Given the description of an element on the screen output the (x, y) to click on. 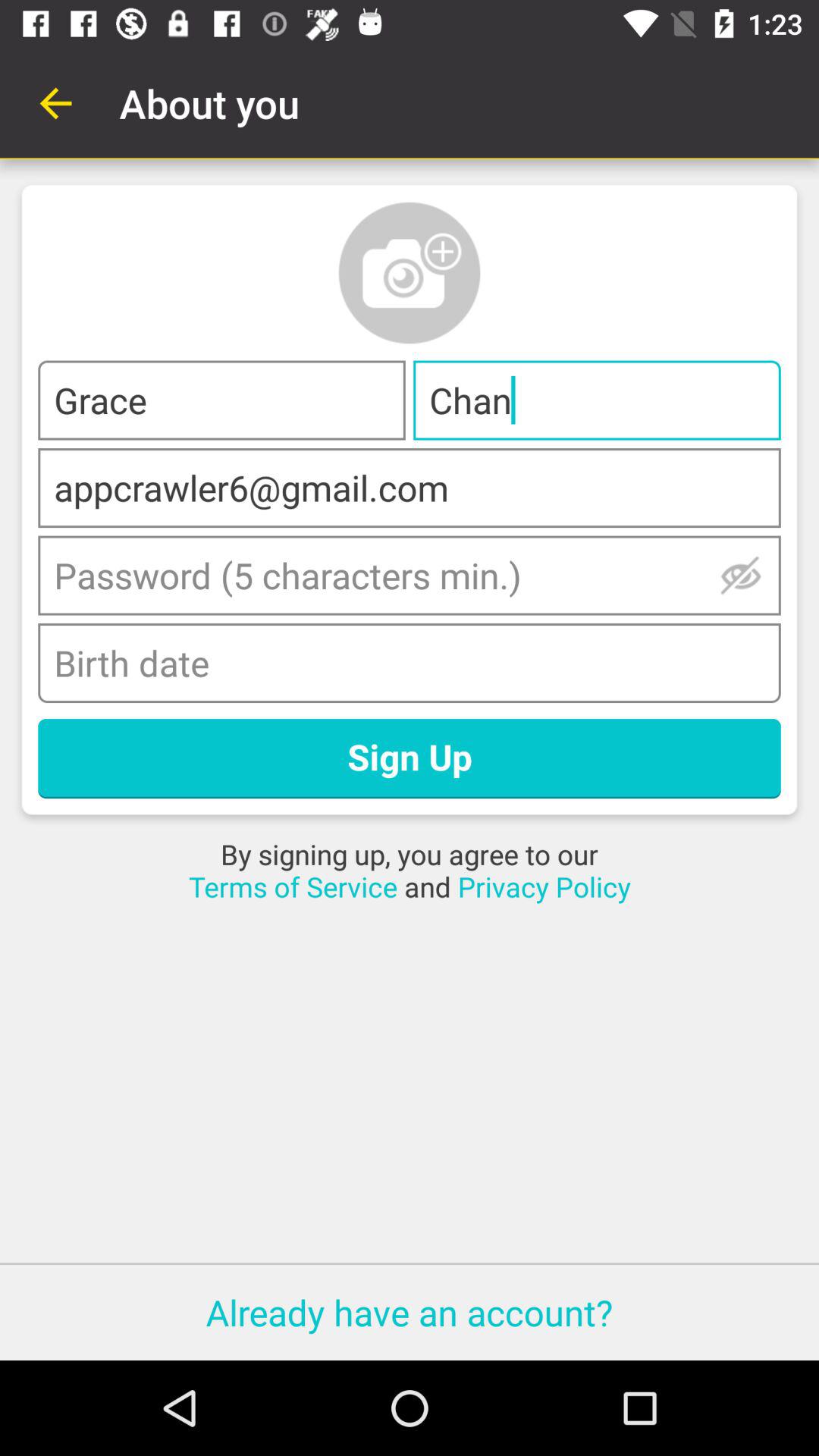
view password (740, 575)
